Given the description of an element on the screen output the (x, y) to click on. 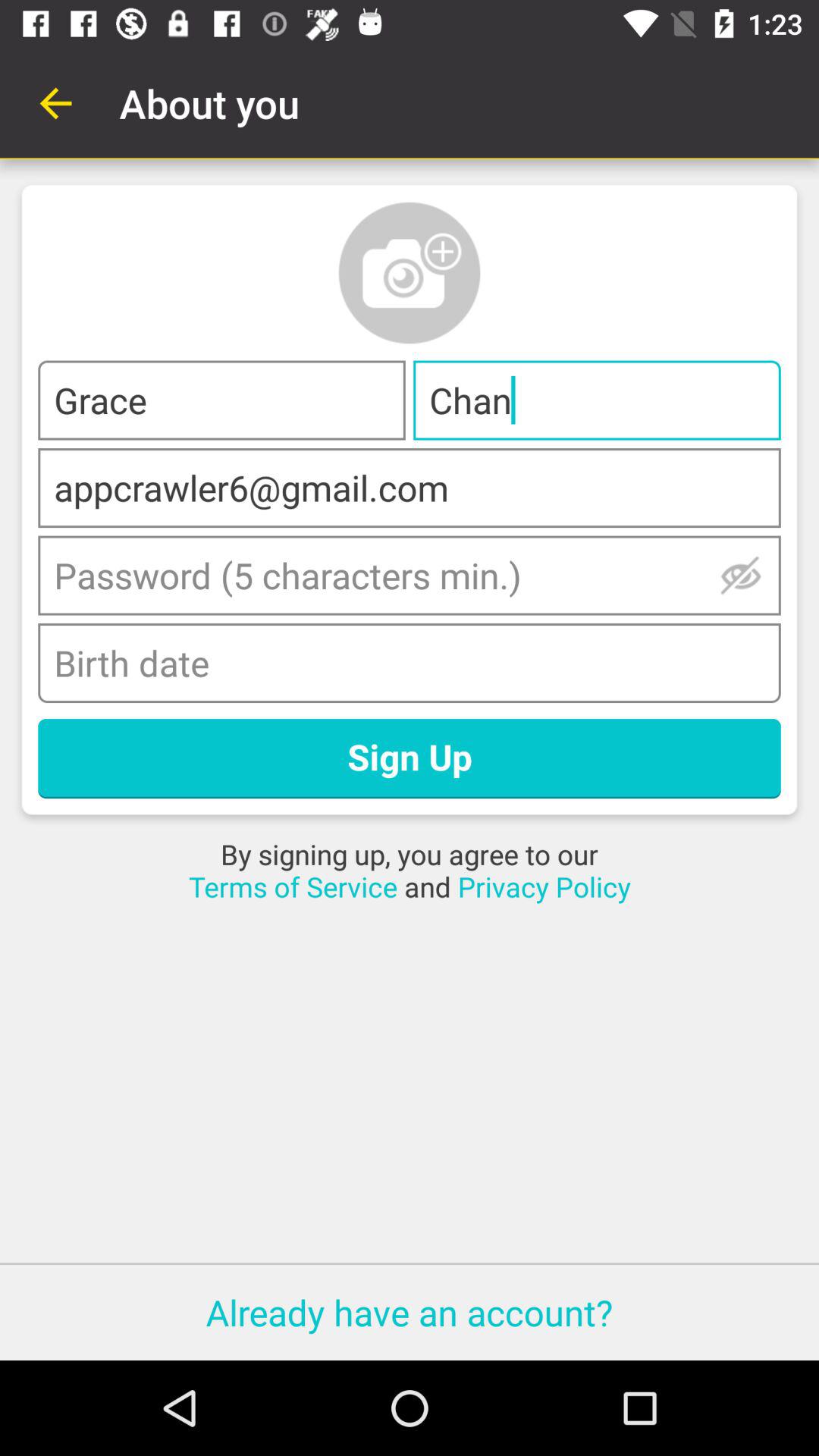
view password (740, 575)
